Given the description of an element on the screen output the (x, y) to click on. 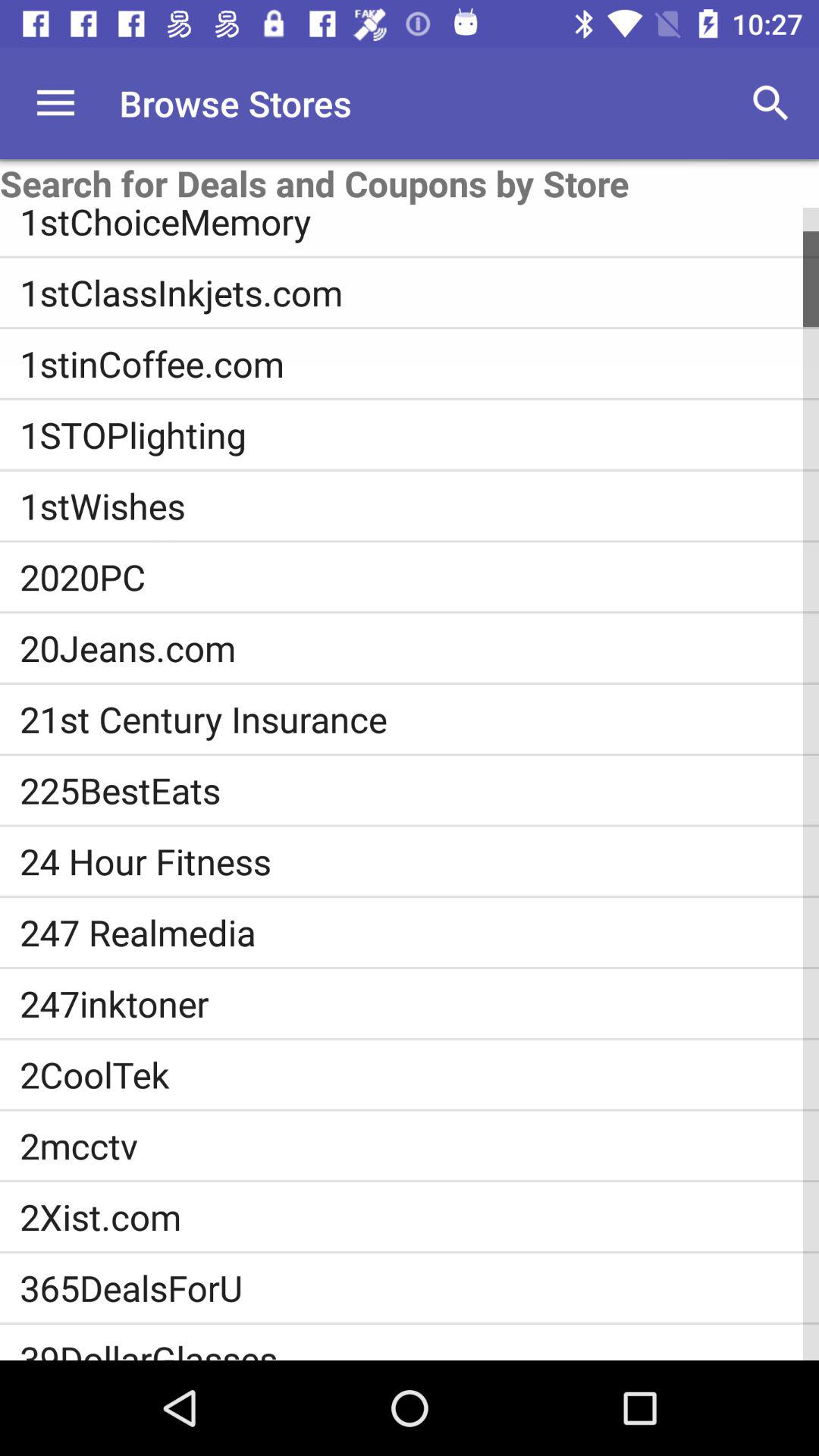
no hay precio igual (55, 103)
